Given the description of an element on the screen output the (x, y) to click on. 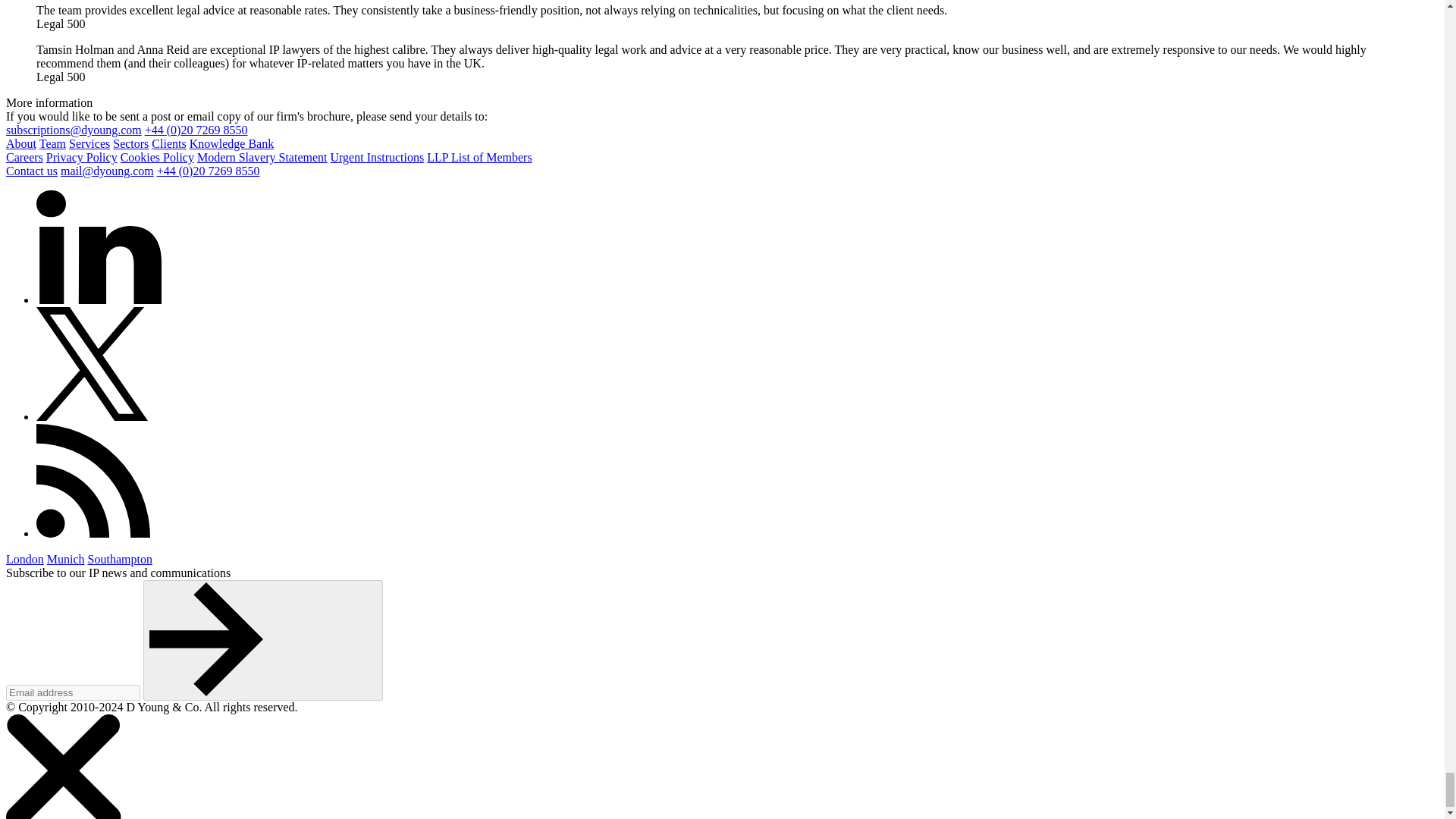
Link to D Young's RSS feed (149, 533)
Link to D Young's Twitter profile (149, 416)
Link to D Young's LinkedIn profile (149, 299)
